Given the description of an element on the screen output the (x, y) to click on. 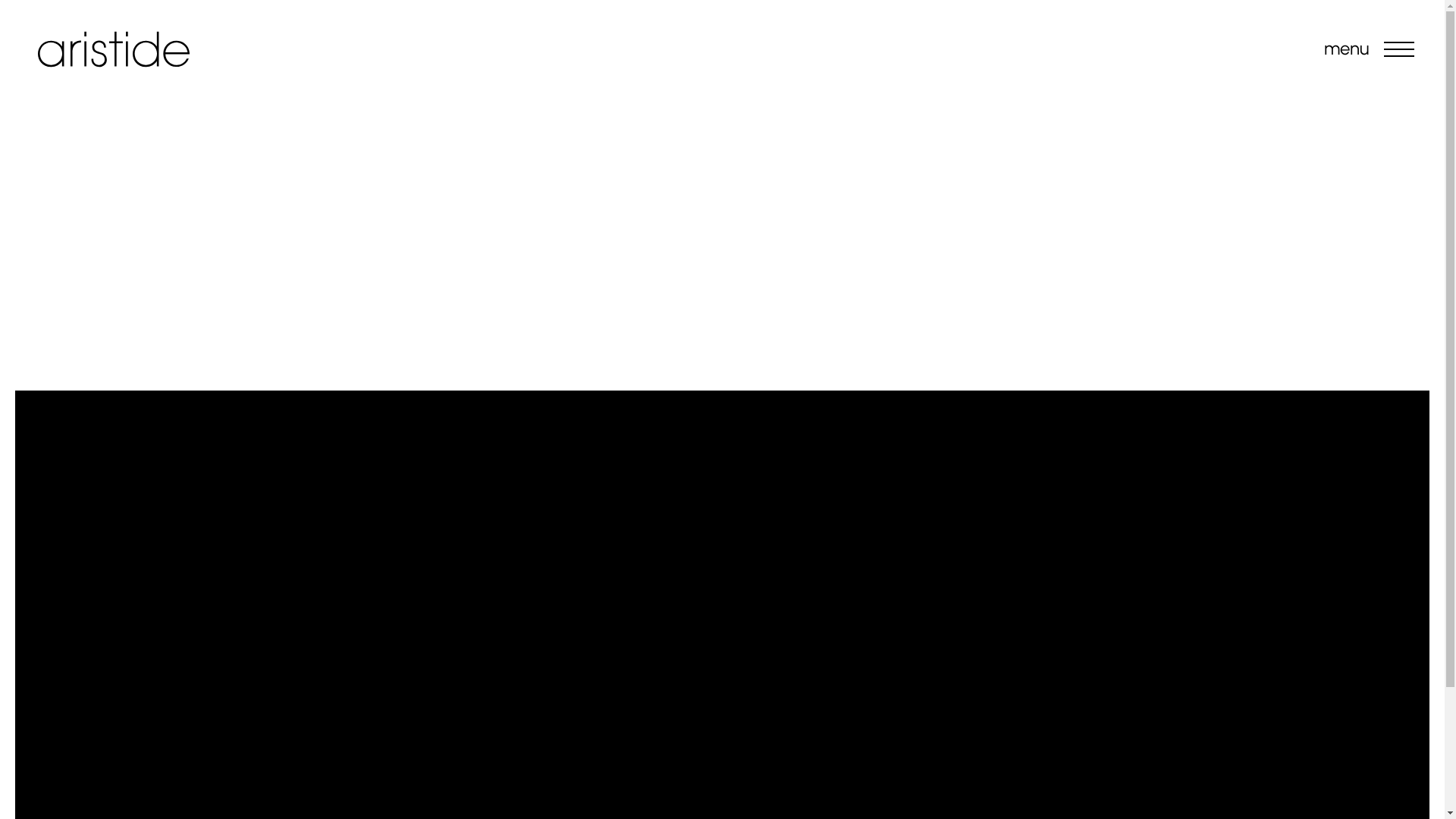
Subscribe Element type: text (1068, 714)
menu Element type: text (1398, 49)
